Given the description of an element on the screen output the (x, y) to click on. 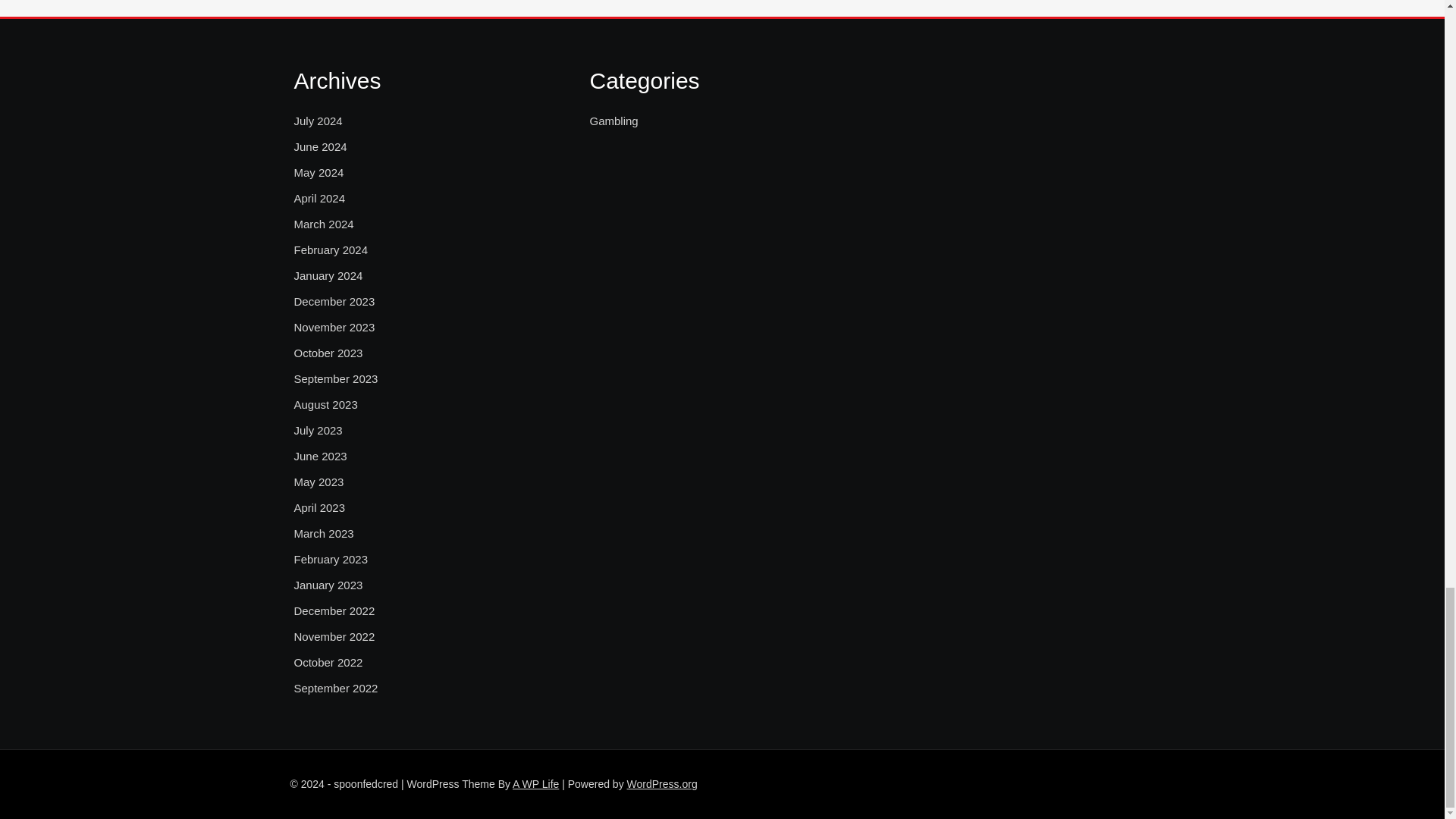
June 2023 (320, 456)
July 2024 (318, 121)
July 2023 (318, 430)
February 2024 (331, 249)
May 2023 (318, 482)
April 2024 (320, 198)
April 2023 (320, 507)
June 2024 (320, 147)
November 2023 (334, 327)
December 2023 (334, 301)
August 2023 (326, 404)
October 2023 (328, 352)
May 2024 (318, 172)
September 2023 (336, 379)
January 2024 (328, 275)
